Given the description of an element on the screen output the (x, y) to click on. 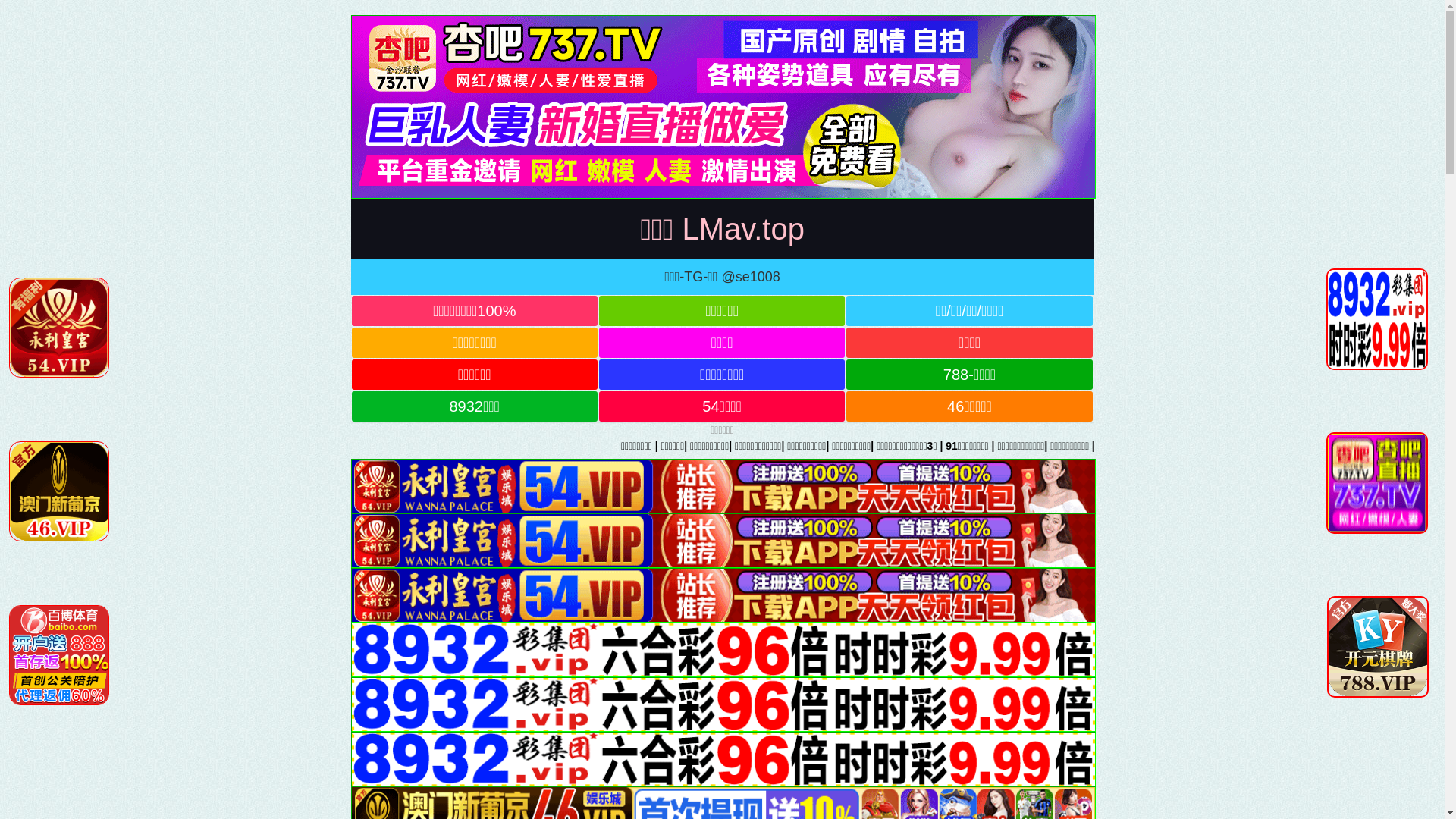
| Element type: text (988, 445)
| Element type: text (1336, 445)
| Element type: text (961, 445)
| Element type: text (1082, 445)
| Element type: text (1031, 445)
| Element type: text (1168, 445)
| Element type: text (1236, 445)
| Element type: text (1382, 445)
| Element type: text (1286, 445)
| Element type: text (1124, 445)
| Element type: text (1436, 445)
